Given the description of an element on the screen output the (x, y) to click on. 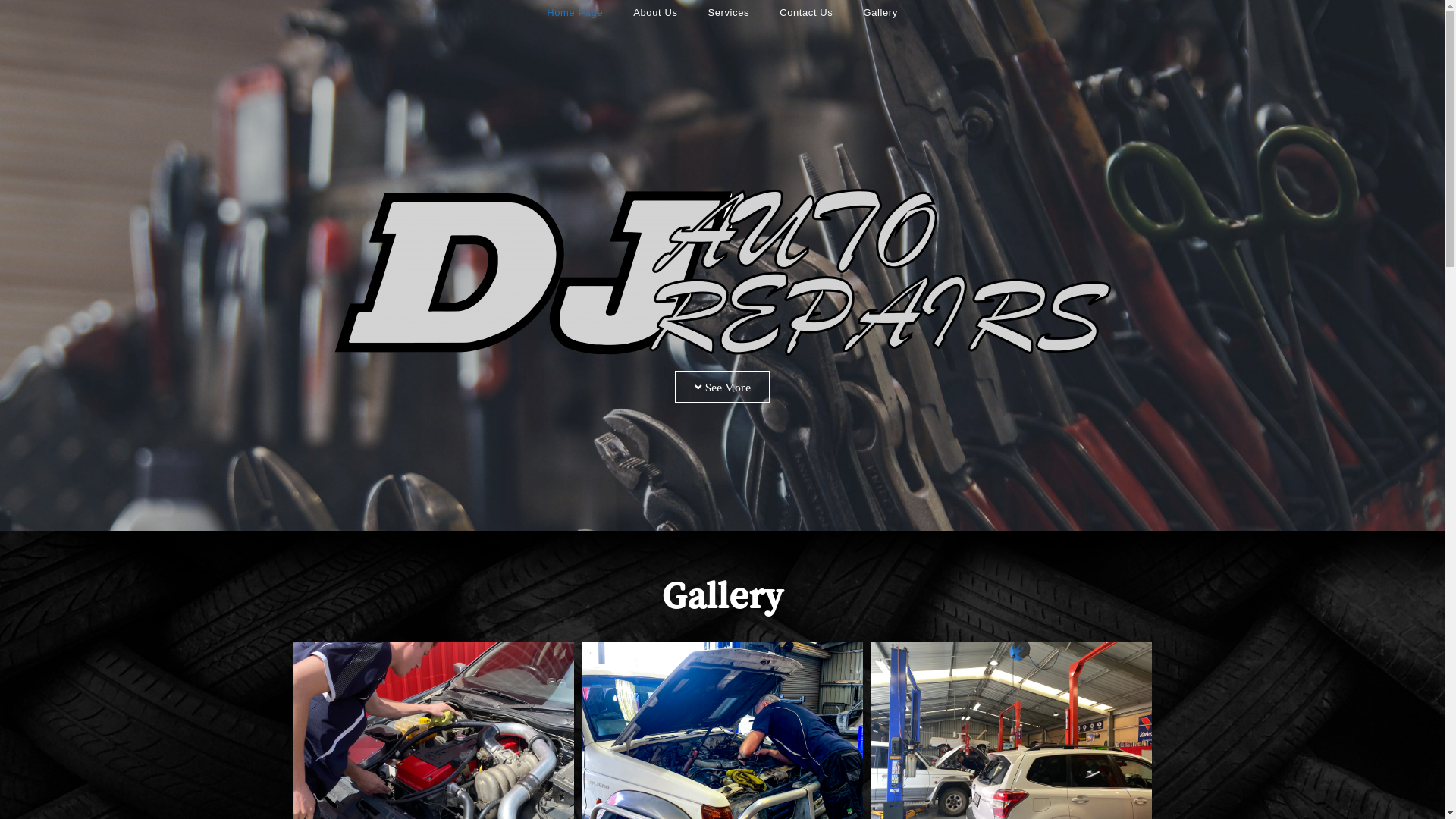
See More Element type: text (722, 386)
